Given the description of an element on the screen output the (x, y) to click on. 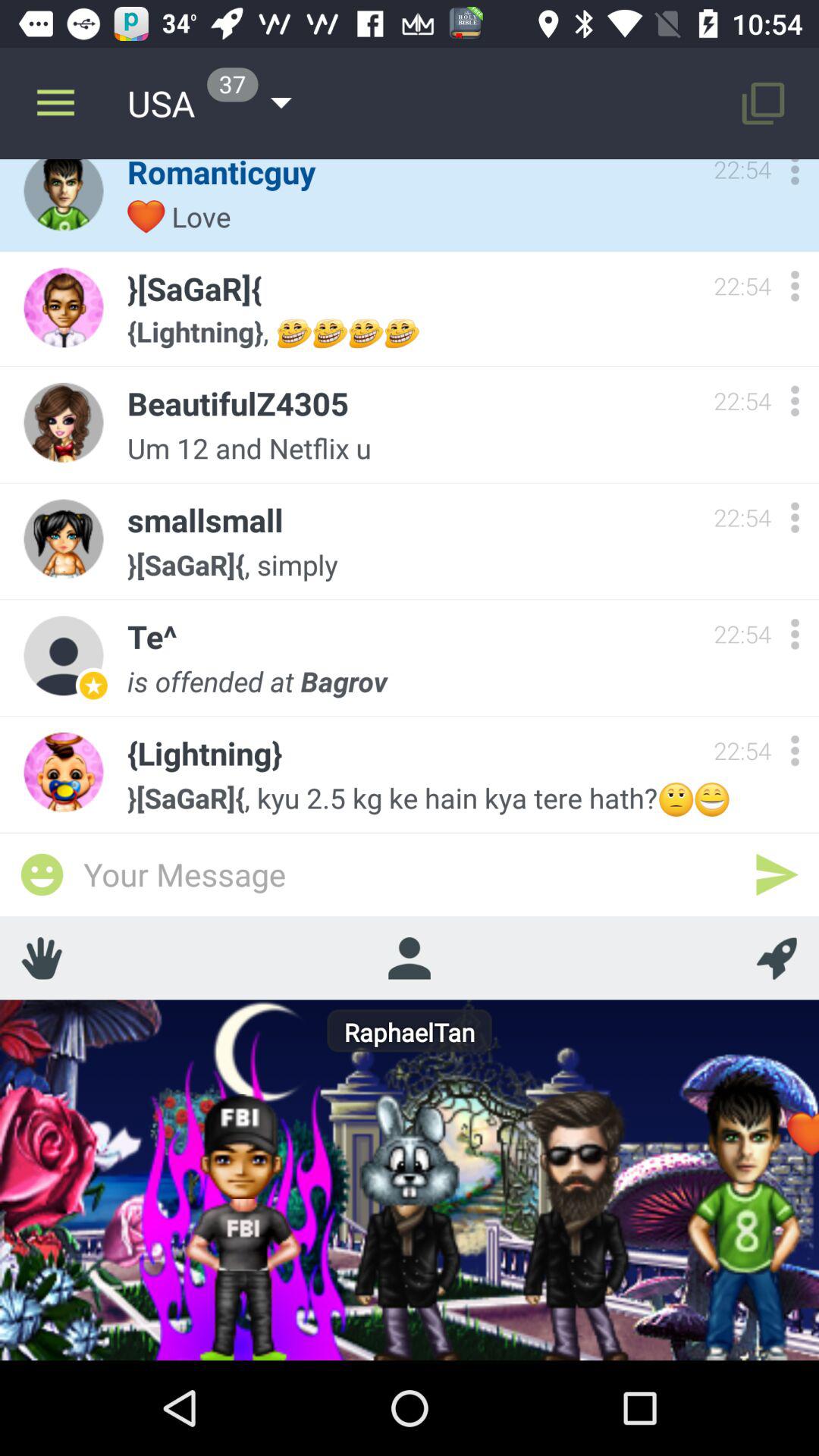
click details (795, 750)
